Given the description of an element on the screen output the (x, y) to click on. 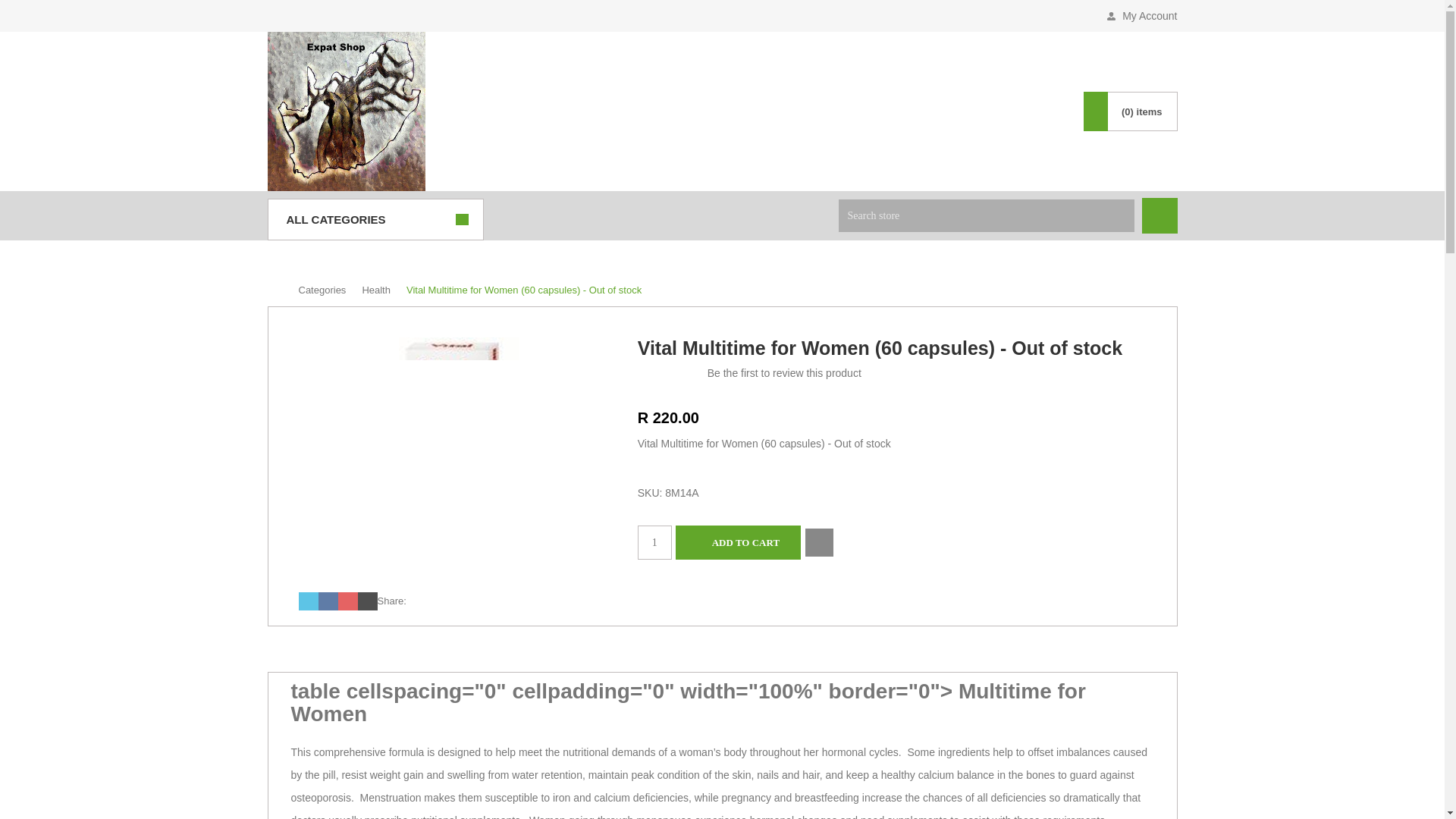
Categories (679, 111)
SEARCH (887, 111)
CONTACT US (789, 111)
1 (654, 542)
CATEGORIES (679, 111)
HOME (587, 111)
Search (1159, 215)
Home (587, 111)
Search (1159, 215)
Add to cart (737, 542)
